Given the description of an element on the screen output the (x, y) to click on. 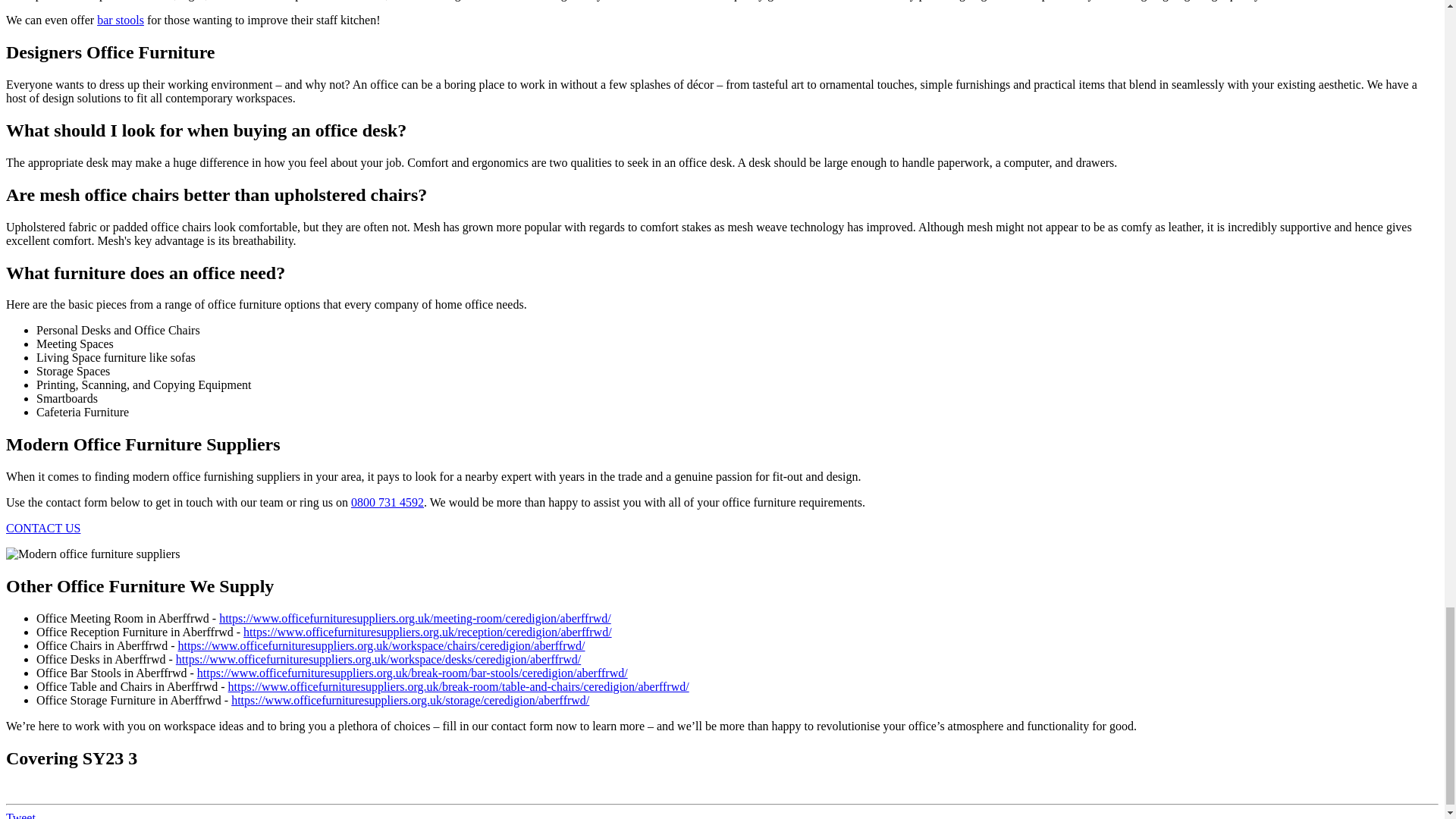
Home (92, 554)
